Given the description of an element on the screen output the (x, y) to click on. 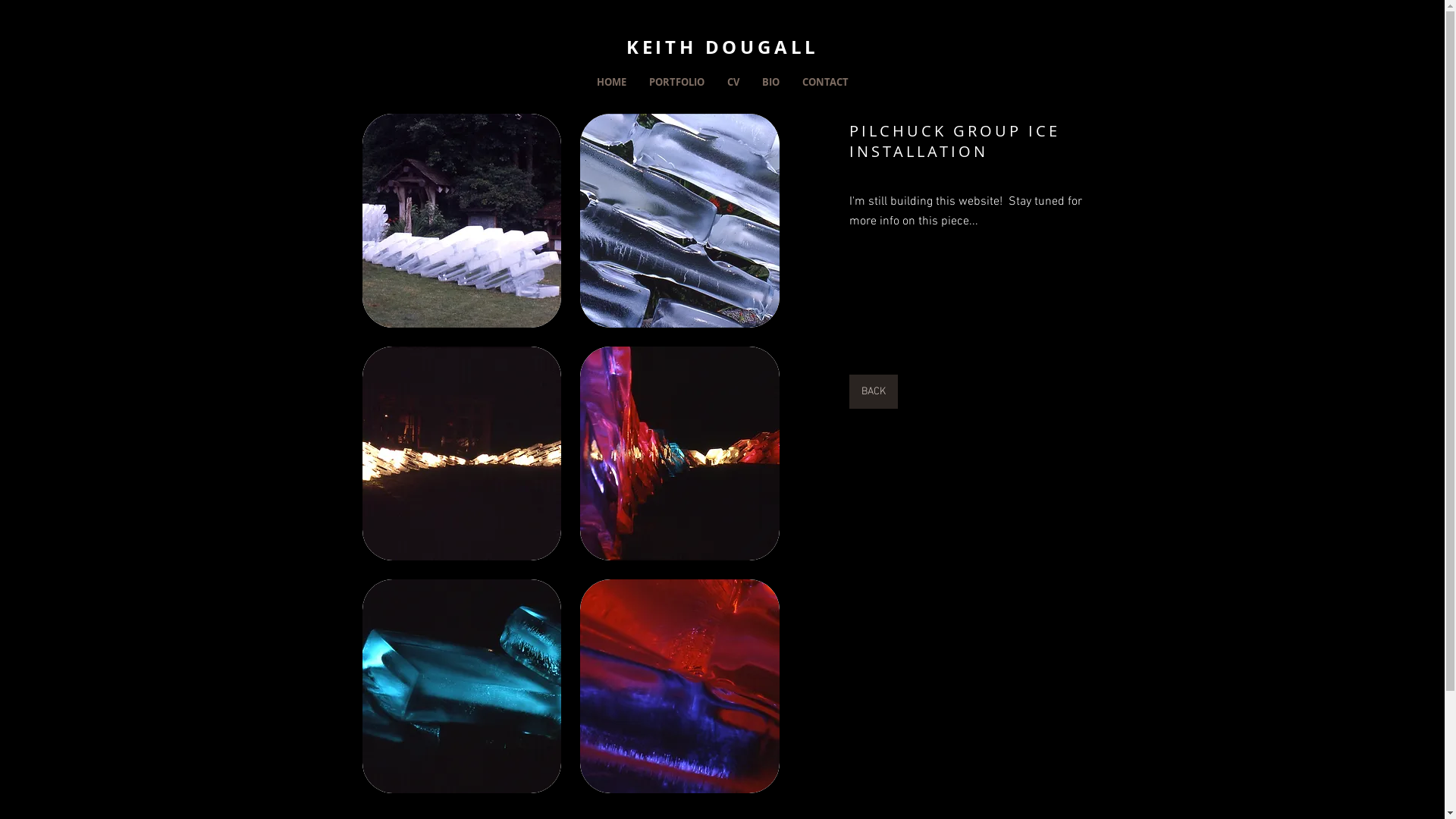
BACK Element type: text (873, 391)
HOME Element type: text (611, 81)
BIO Element type: text (770, 81)
KEITH DOUGALL Element type: text (722, 46)
PORTFOLIO Element type: text (676, 81)
CV Element type: text (732, 81)
CONTACT Element type: text (824, 81)
